Given the description of an element on the screen output the (x, y) to click on. 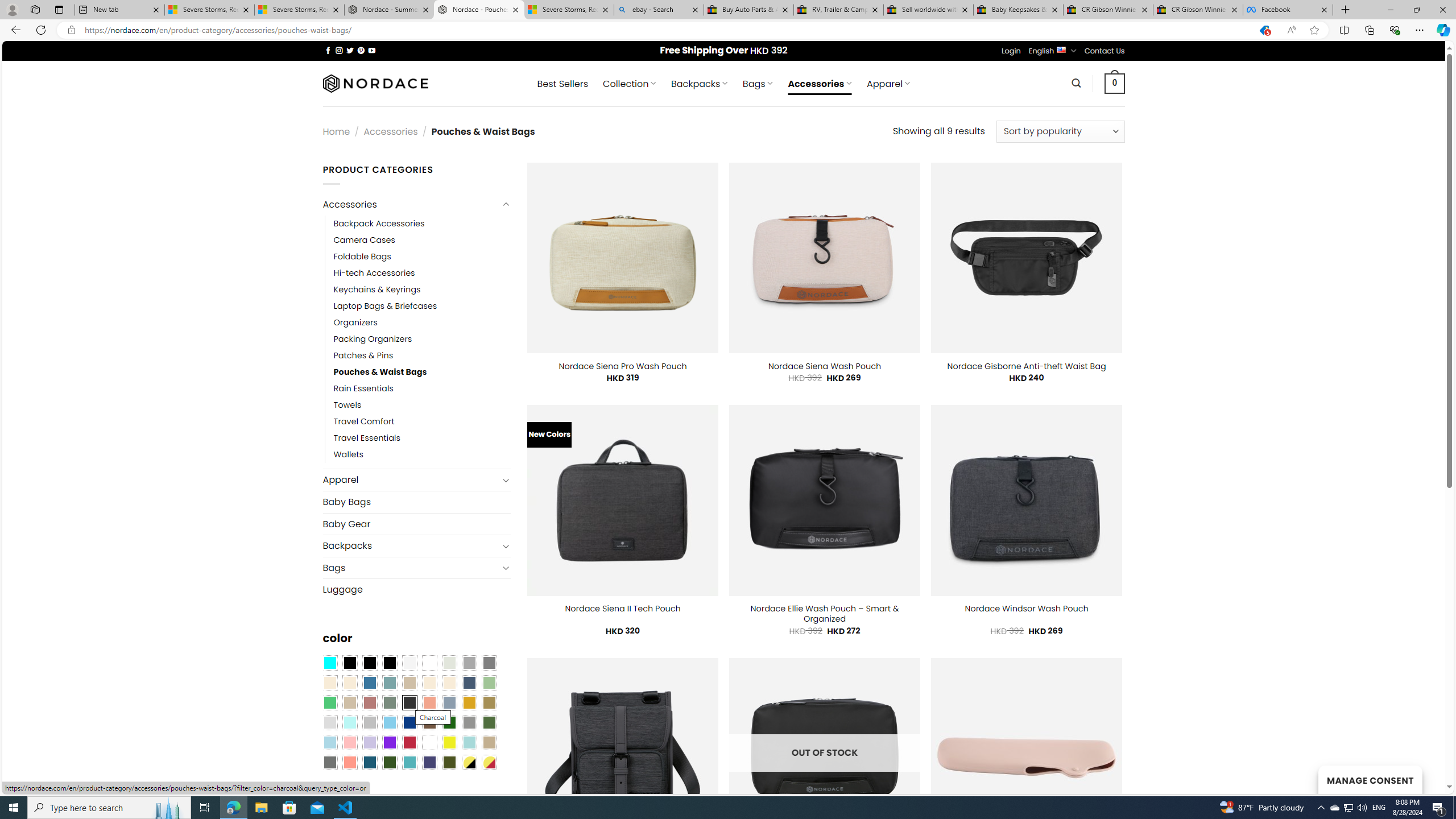
Sky Blue (389, 721)
Travel Comfort (422, 421)
Aqua (468, 741)
Navy Blue (408, 721)
Shop order (1060, 131)
Nordace Siena Wash Pouch (823, 365)
Nordace Gisborne Anti-theft Waist Bag (1026, 365)
Nordace Siena II Tech Pouch (622, 608)
Red (408, 741)
